Given the description of an element on the screen output the (x, y) to click on. 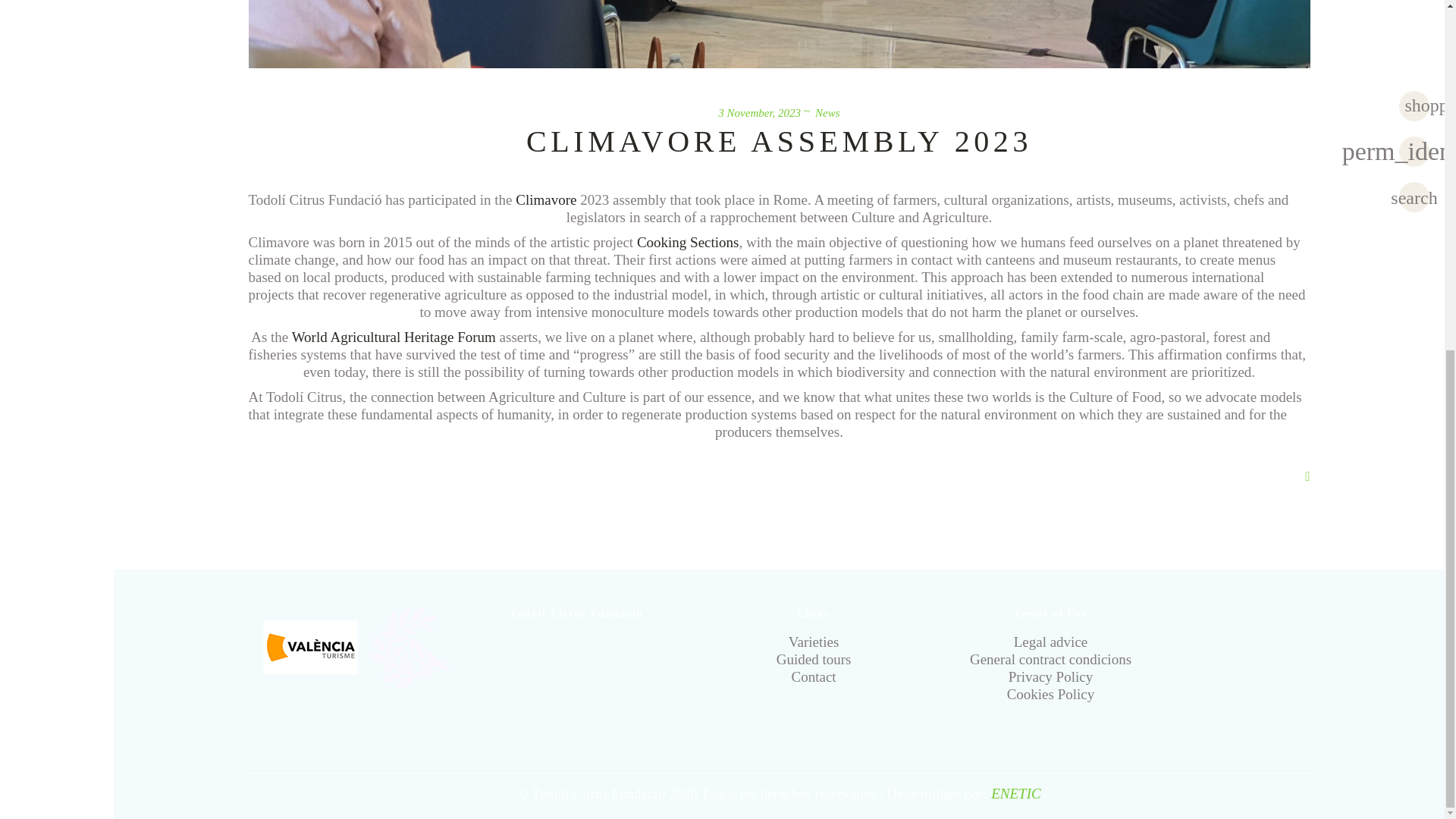
Legal advice (1050, 641)
Cookies Policy (1050, 693)
3 November, 2023 (758, 111)
Contact (813, 676)
General contract condicions (1050, 659)
Climavore (545, 198)
Cooking Sections (685, 241)
Guided tours (813, 659)
Privacy Policy (1051, 676)
News (827, 111)
